Given the description of an element on the screen output the (x, y) to click on. 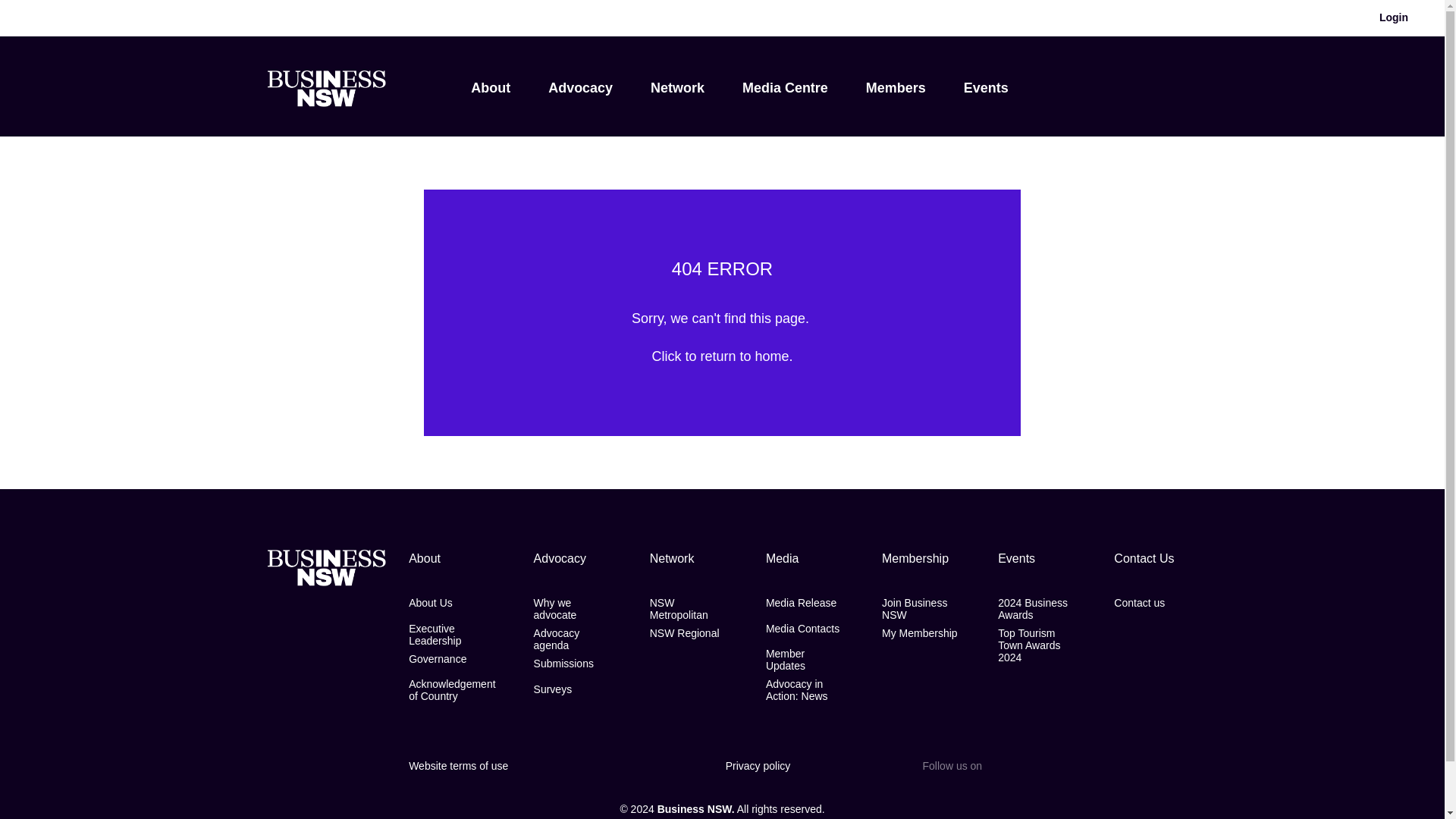
Network (677, 87)
Events (986, 87)
Click to return to home. (721, 355)
About Us (430, 603)
Media Centre (785, 87)
Executive Leadership (452, 634)
Login (1394, 17)
Members (896, 87)
Advocacy (580, 87)
About (490, 87)
